Given the description of an element on the screen output the (x, y) to click on. 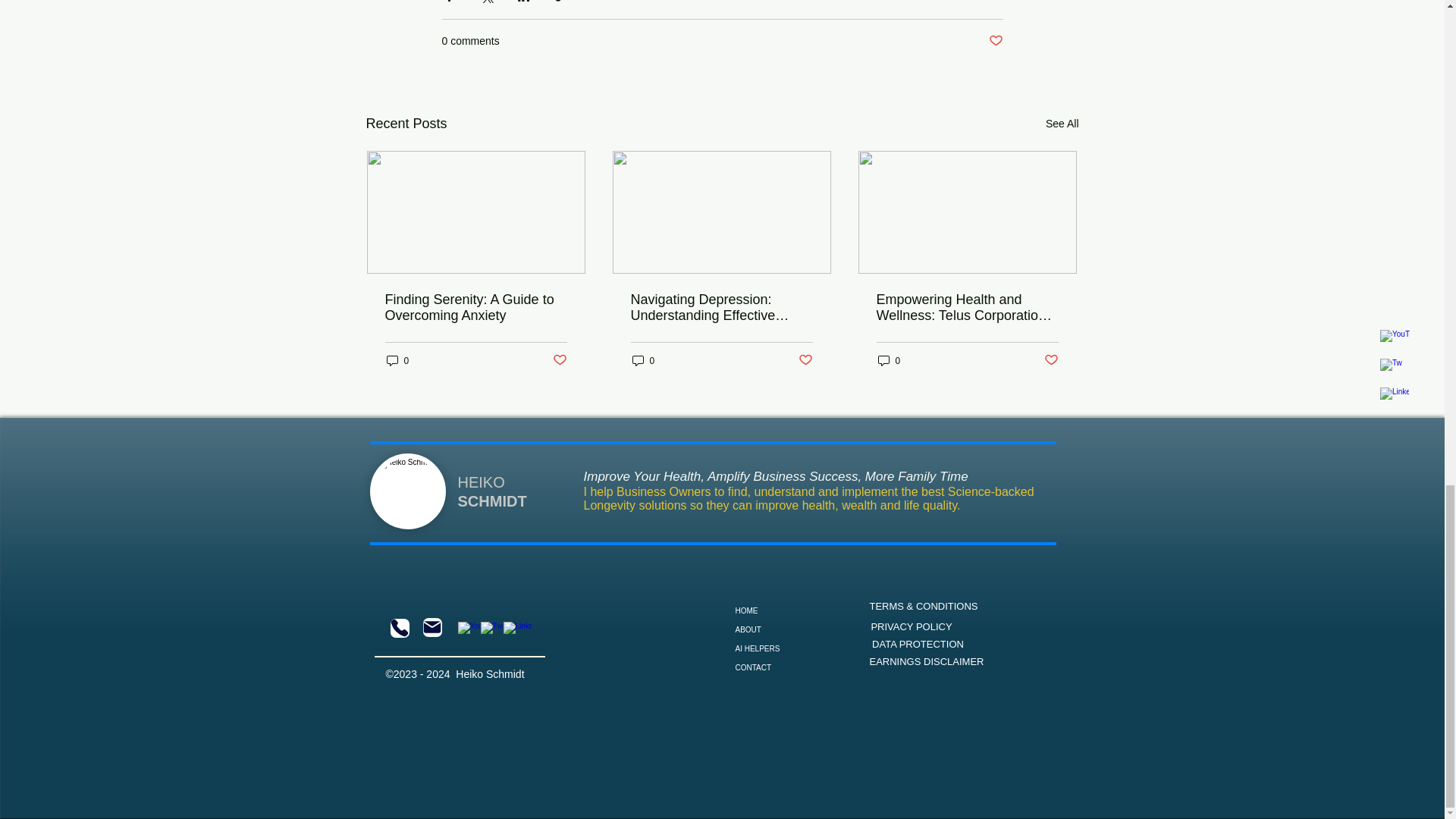
Post not marked as liked (1050, 360)
Post not marked as liked (804, 360)
See All (1061, 124)
0 (397, 359)
0 (889, 359)
Navigating Depression: Understanding Effective Therapy (721, 307)
Post not marked as liked (995, 41)
Post not marked as liked (558, 360)
0 (643, 359)
